Given the description of an element on the screen output the (x, y) to click on. 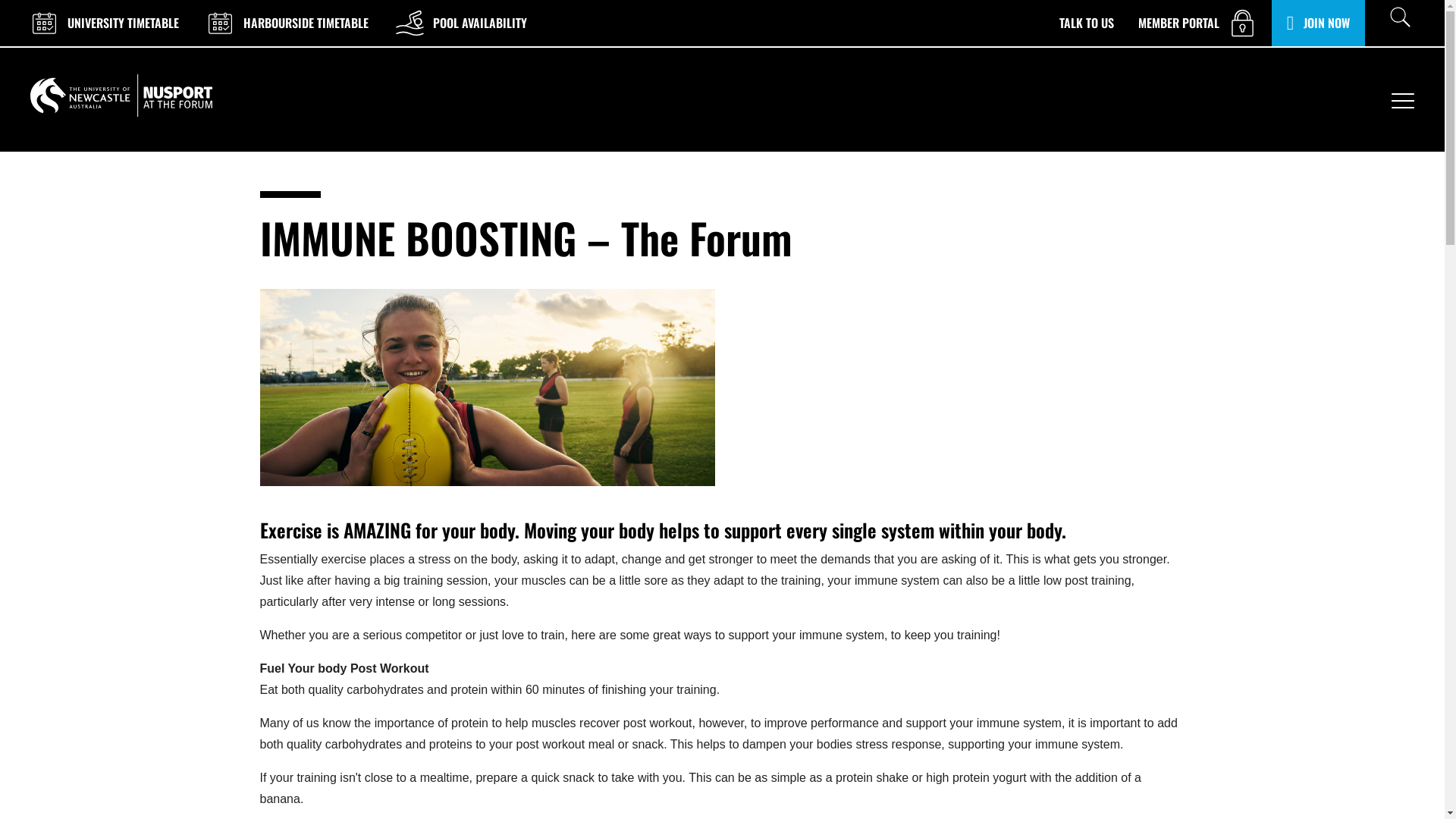
JOIN NOW Element type: text (1317, 23)
The Forum Element type: hover (121, 95)
HARBOURSIDE TIMETABLE Element type: text (285, 23)
POOL AVAILABILITY Element type: text (459, 23)
health-wellness-big-image Element type: hover (486, 387)
MEMBER PORTAL Element type: text (1198, 23)
TALK TO US Element type: text (1086, 23)
UNIVERSITY TIMETABLE Element type: text (102, 23)
